Given the description of an element on the screen output the (x, y) to click on. 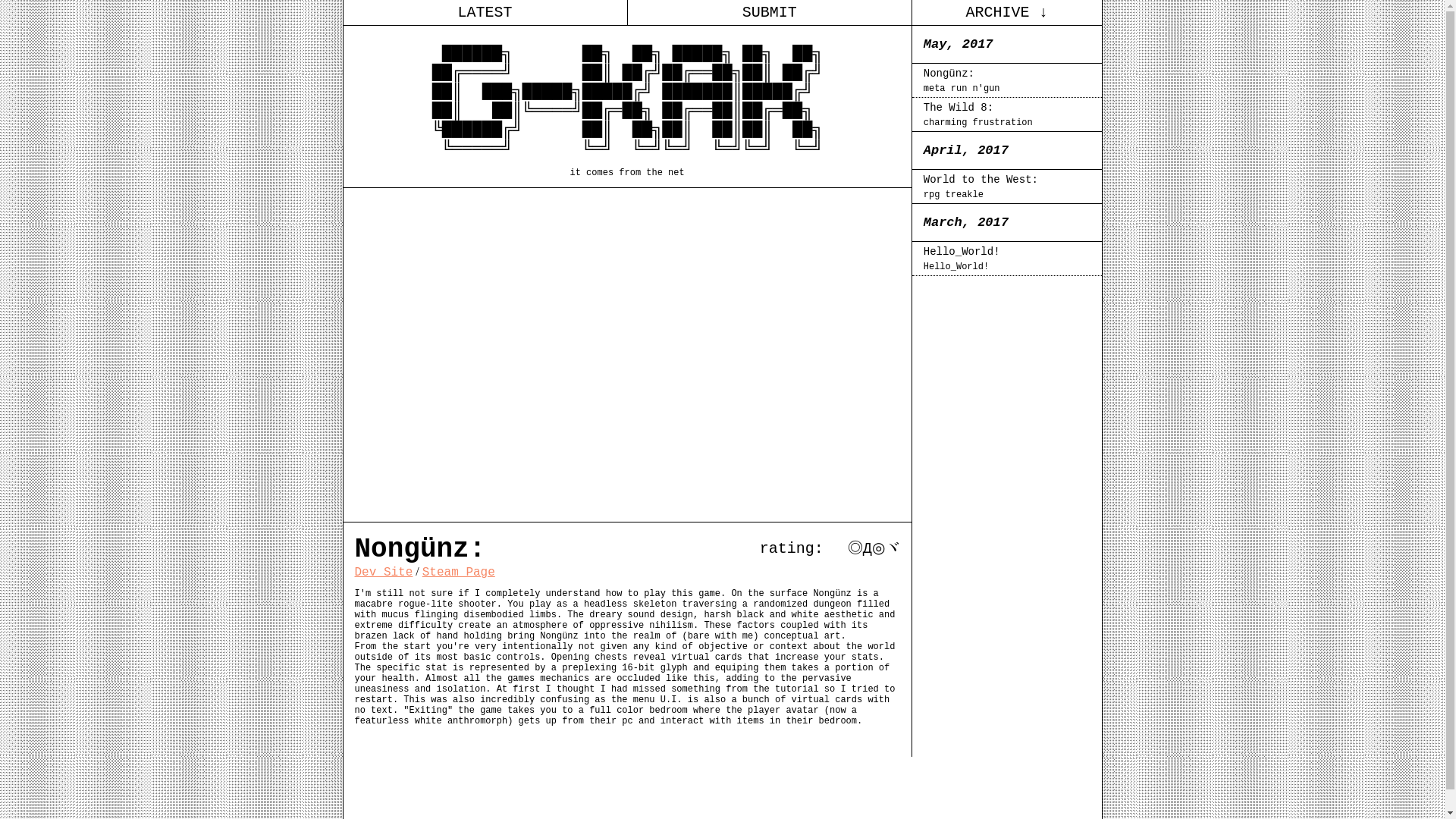
Steam Page (458, 572)
April, 2017 (1007, 150)
Dev Site (1007, 188)
LATEST (1007, 116)
SUBMIT (384, 572)
March, 2017 (484, 12)
May, 2017 (769, 12)
